Given the description of an element on the screen output the (x, y) to click on. 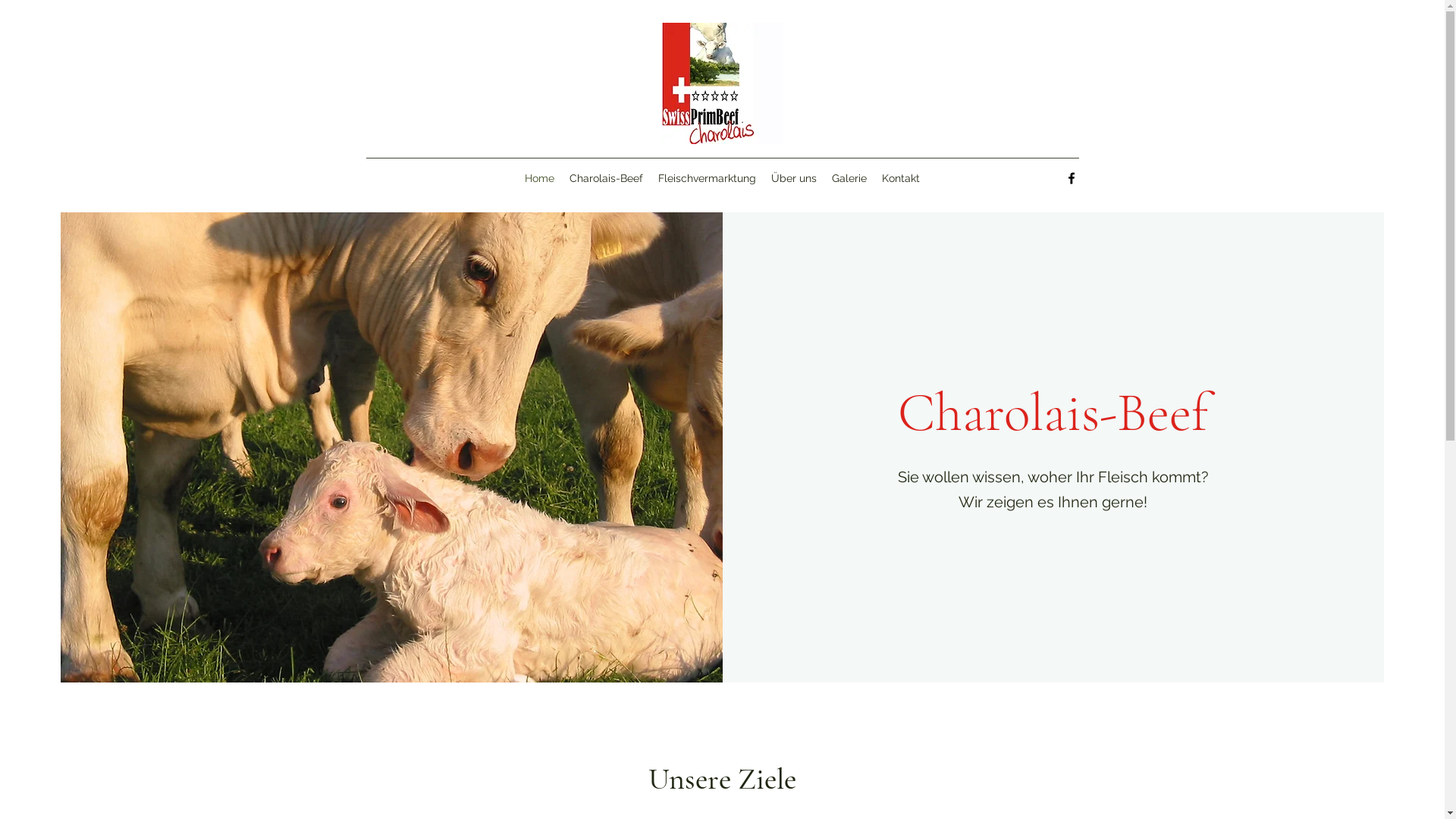
Fleischvermarktung Element type: text (706, 177)
Charolais-Beef Element type: text (605, 177)
Home Element type: text (539, 177)
Kontakt Element type: text (900, 177)
Galerie Element type: text (849, 177)
